Given the description of an element on the screen output the (x, y) to click on. 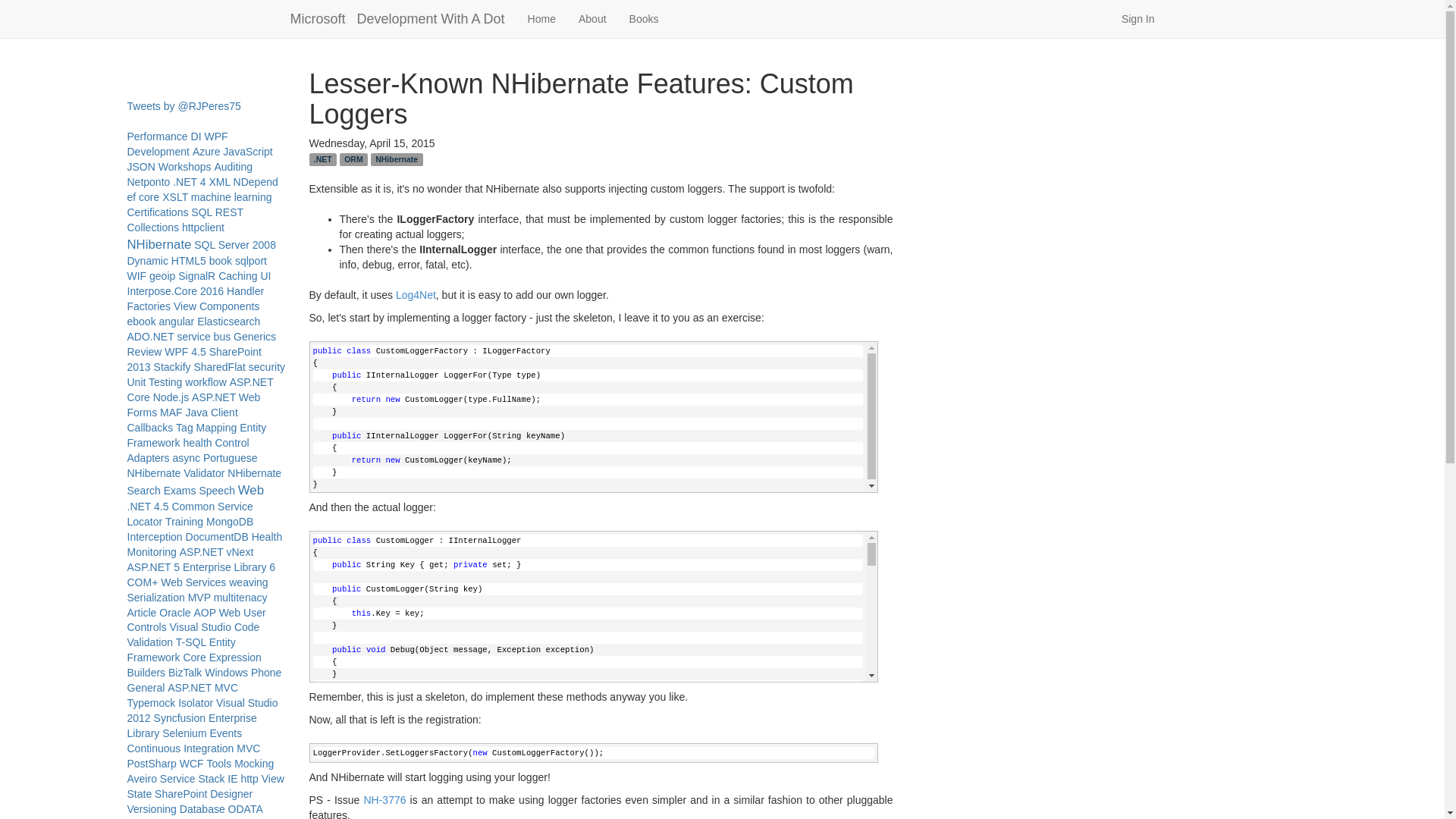
Azure (206, 151)
WIF (137, 275)
Workshops (184, 166)
Certifications (158, 212)
geoip (161, 275)
sqlport (250, 260)
JSON (141, 166)
Auditing (232, 166)
SignalR (196, 275)
Books (643, 18)
